Given the description of an element on the screen output the (x, y) to click on. 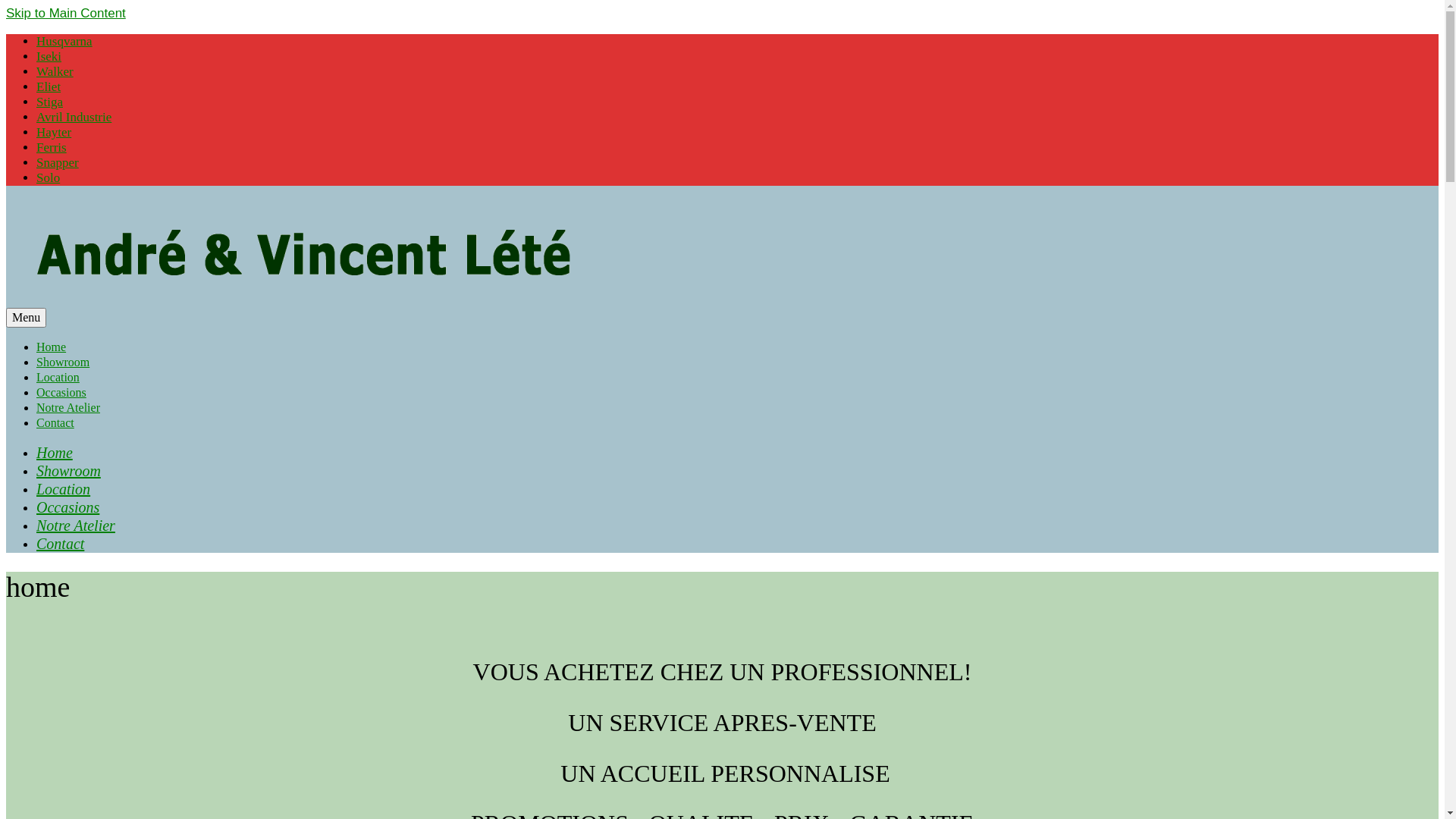
Contact Element type: text (60, 543)
Walker Element type: text (54, 71)
Home Element type: text (54, 452)
Snapper Element type: text (57, 162)
Avril Industrie Element type: text (73, 116)
Notre Atelier Element type: text (68, 407)
Showroom Element type: text (68, 470)
Notre Atelier Element type: text (75, 525)
Stiga Element type: text (49, 101)
Skip to Main Content Element type: text (65, 13)
Hayter Element type: text (53, 132)
Husqvarna Element type: text (64, 41)
Occasions Element type: text (61, 391)
Eliet Element type: text (48, 86)
Iseki Element type: text (48, 56)
Contact Element type: text (55, 422)
Occasions Element type: text (67, 506)
Menu Element type: text (26, 317)
Home Element type: text (50, 346)
Ferris Element type: text (51, 147)
Location Element type: text (63, 488)
Solo Element type: text (47, 177)
Location Element type: text (57, 376)
Showroom Element type: text (62, 361)
